Given the description of an element on the screen output the (x, y) to click on. 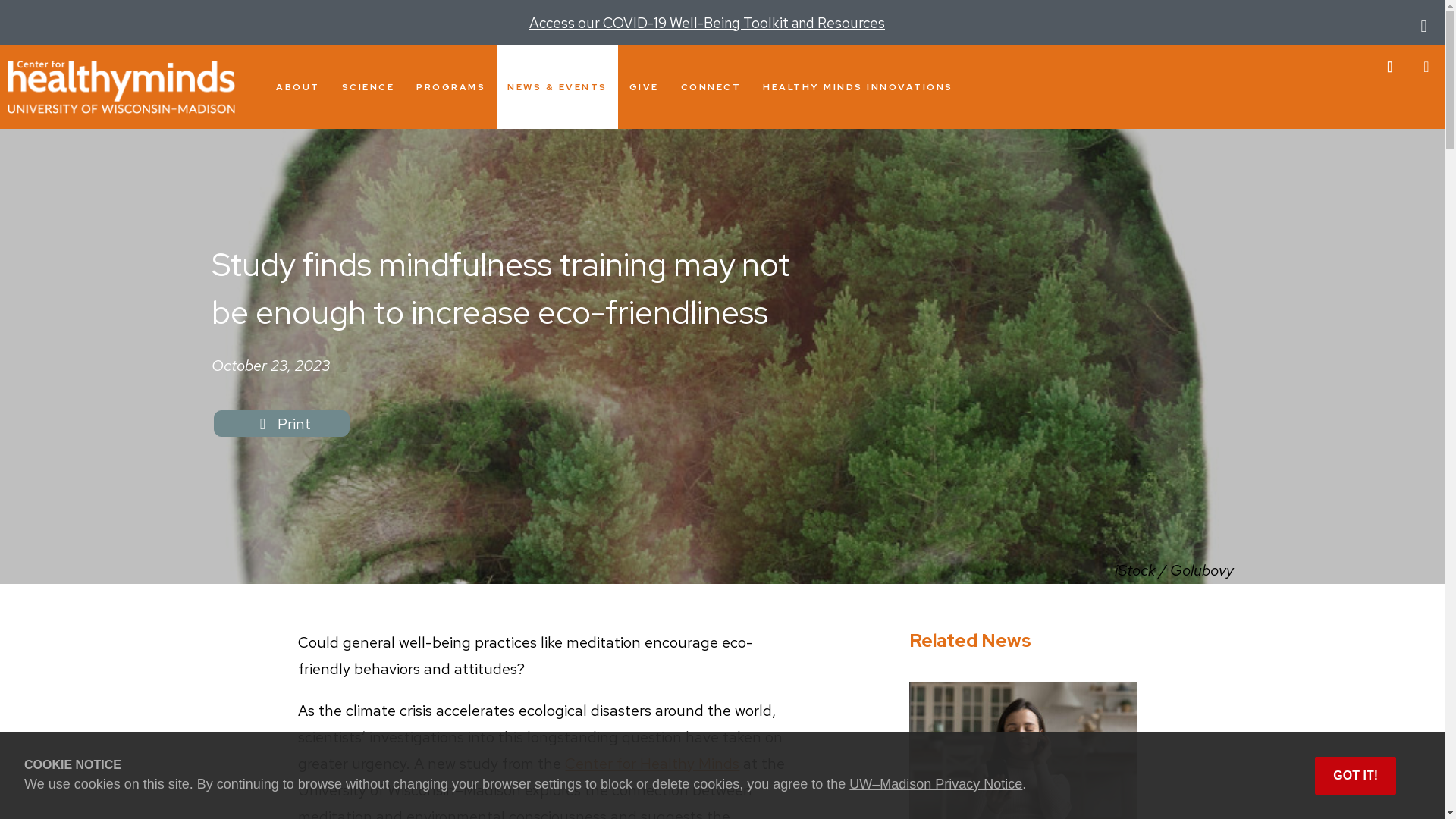
PROGRAMS (451, 86)
Access our COVID-19 Well-Being Toolkit and Resources (707, 22)
Center for Healthy Minds (121, 86)
GOT IT! (1355, 775)
HEALTHY MINDS INNOVATIONS (857, 86)
SCIENCE (367, 86)
CONNECT (710, 86)
